Given the description of an element on the screen output the (x, y) to click on. 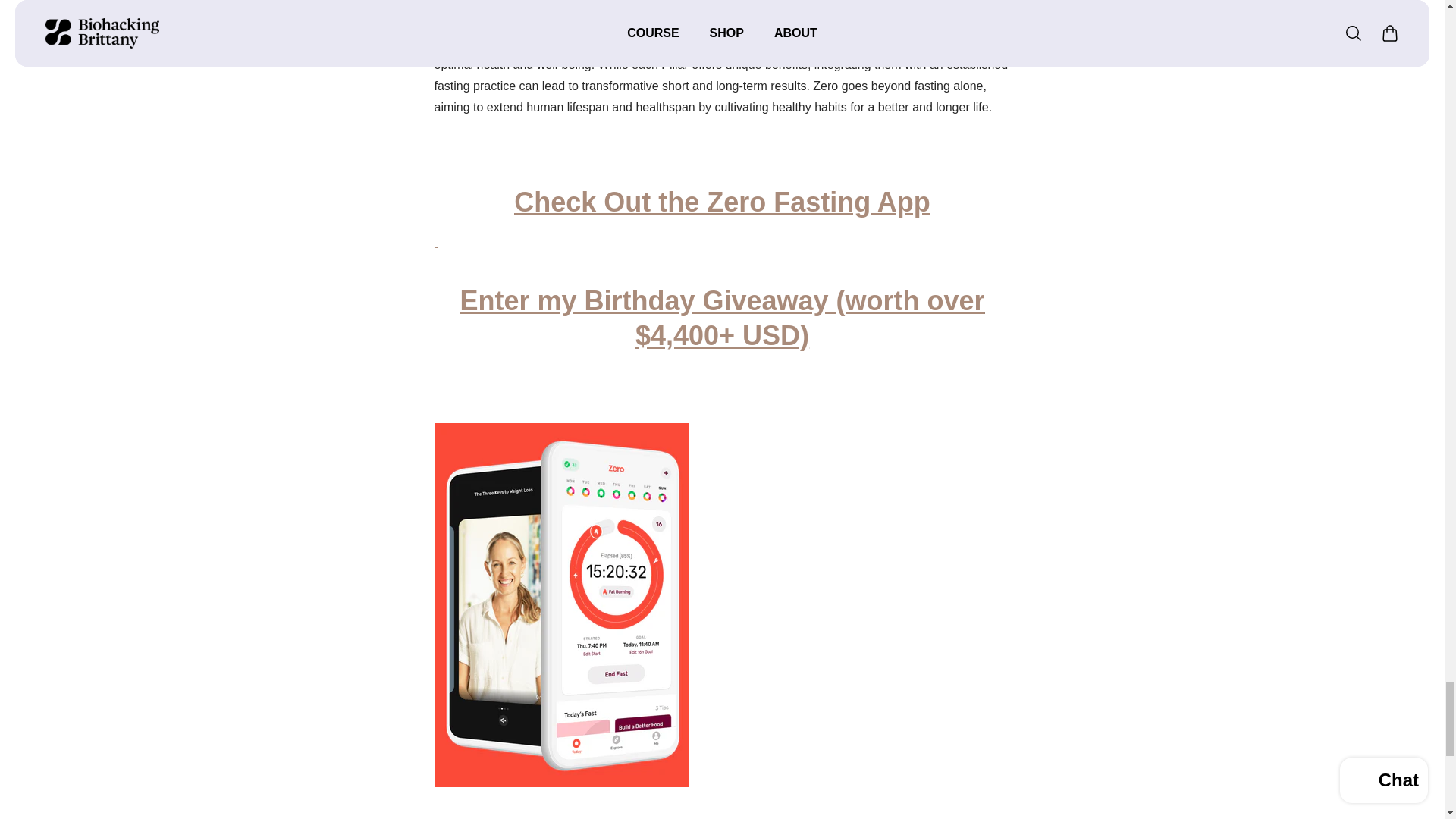
Check Out the Zero Fasting App (721, 201)
zero longevity app (721, 201)
